Given the description of an element on the screen output the (x, y) to click on. 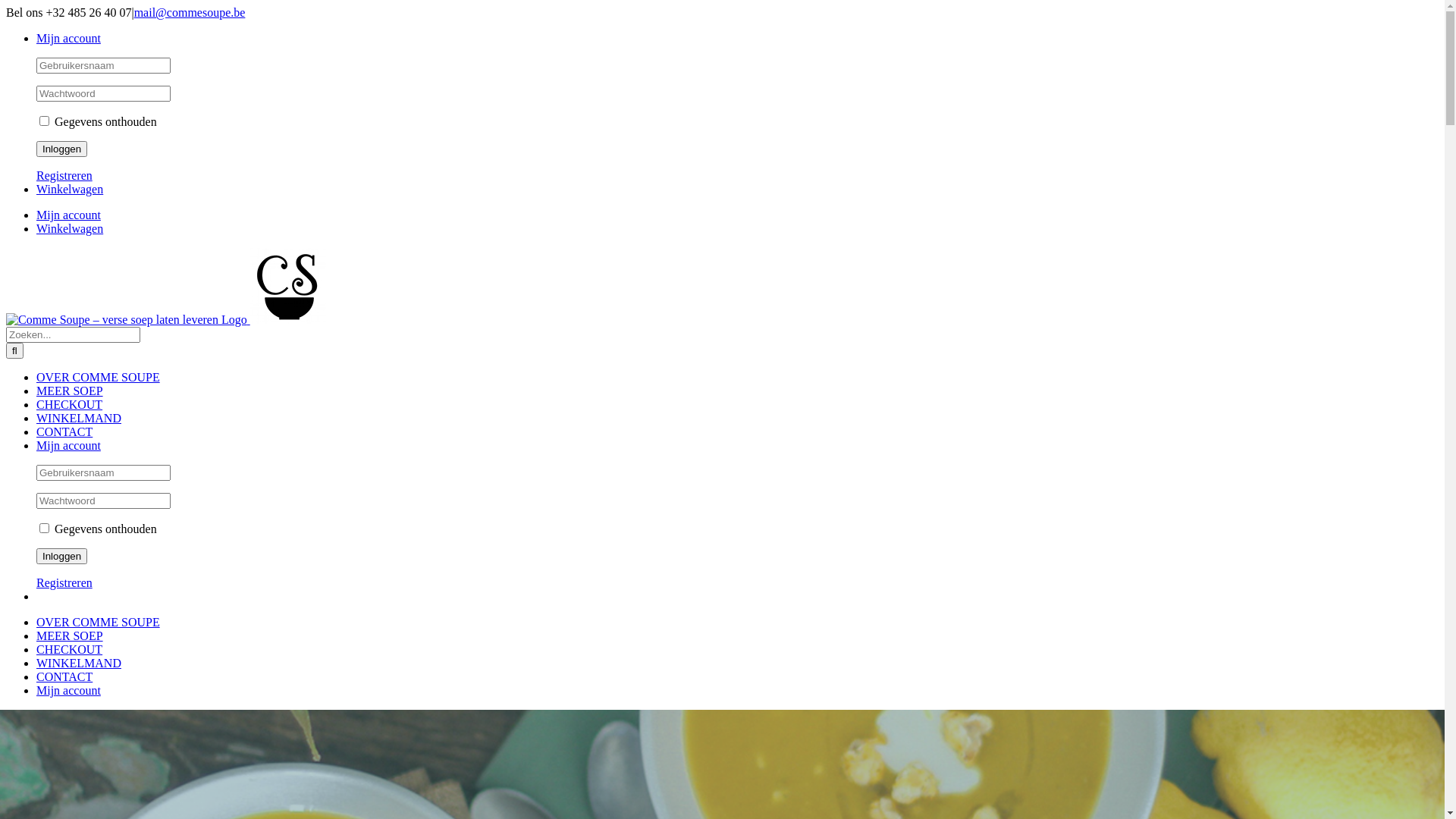
Mijn account Element type: text (68, 37)
MEER SOEP Element type: text (69, 390)
CONTACT Element type: text (64, 676)
MEER SOEP Element type: text (69, 635)
Winkelwagen Element type: text (69, 228)
CONTACT Element type: text (64, 431)
OVER COMME SOUPE Element type: text (98, 621)
Mijn account Element type: text (68, 445)
Skip to content Element type: text (5, 5)
Inloggen Element type: text (61, 556)
OVER COMME SOUPE Element type: text (98, 376)
WINKELMAND Element type: text (78, 417)
Registreren Element type: text (64, 582)
Mijn account Element type: text (68, 214)
WINKELMAND Element type: text (78, 662)
Inloggen Element type: text (61, 148)
Registreren Element type: text (64, 175)
CHECKOUT Element type: text (69, 404)
mail@commesoupe.be Element type: text (189, 12)
Mijn account Element type: text (68, 690)
CHECKOUT Element type: text (69, 649)
Winkelwagen Element type: text (69, 188)
